Given the description of an element on the screen output the (x, y) to click on. 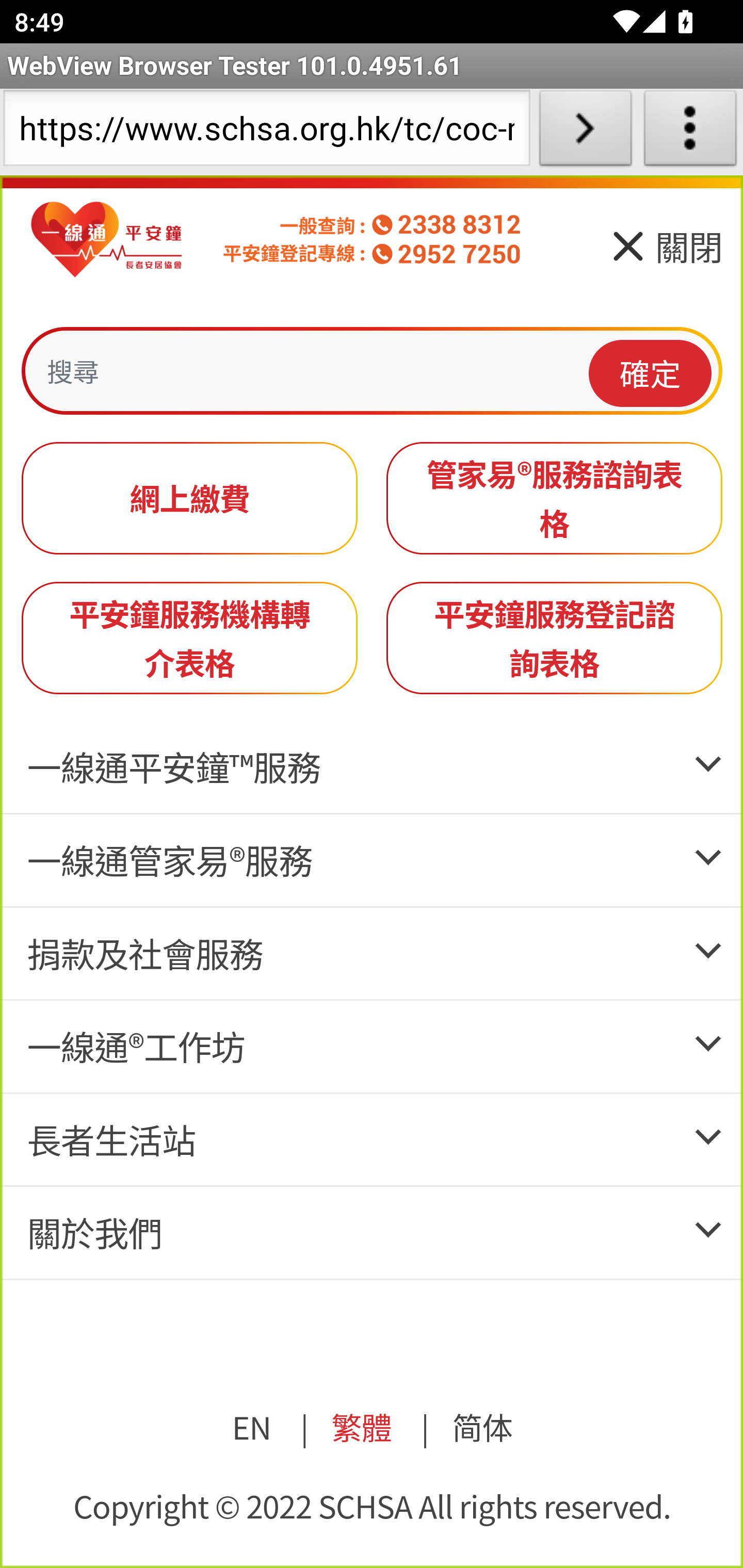
Load URL (585, 132)
About WebView (690, 132)
homepage (107, 240)
關閉 (665, 252)
確定 (650, 372)
網上繳費 (189, 498)
管家易®服務諮詢表格 (554, 498)
平安鐘服務機構轉介表格 (189, 637)
平安鐘服務登記諮詢表格 (554, 637)
一線通平安鐘™服務 (173, 766)
一線通管家易®服務 (169, 859)
捐款及社會服務 (144, 952)
一線通®工作坊 (135, 1046)
長者生活站 (110, 1139)
關於我們 (93, 1232)
EN (251, 1426)
繁體 (360, 1426)
简体 (481, 1426)
